Given the description of an element on the screen output the (x, y) to click on. 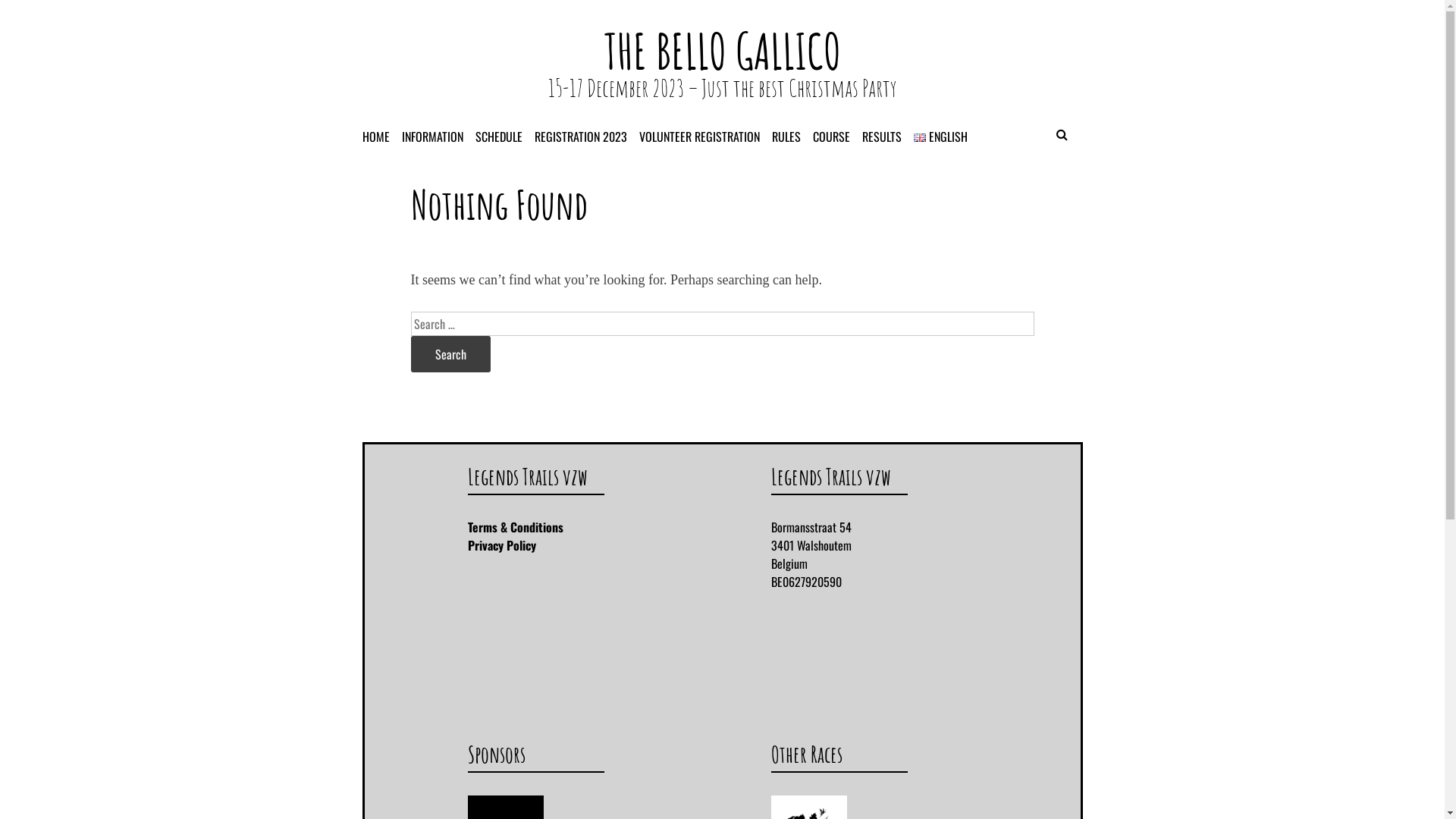
Search Element type: text (450, 353)
VOLUNTEER REGISTRATION Element type: text (704, 135)
RULES Element type: text (791, 135)
Privacy Policy Element type: text (501, 545)
RESULTS Element type: text (887, 135)
Terms & Conditions Element type: text (514, 526)
THE BELLO GALLICO Element type: text (721, 50)
ENGLISH Element type: text (946, 135)
SCHEDULE Element type: text (504, 135)
HOME Element type: text (381, 135)
COURSE Element type: text (836, 135)
INFORMATION Element type: text (438, 135)
REGISTRATION 2023 Element type: text (586, 135)
